Given the description of an element on the screen output the (x, y) to click on. 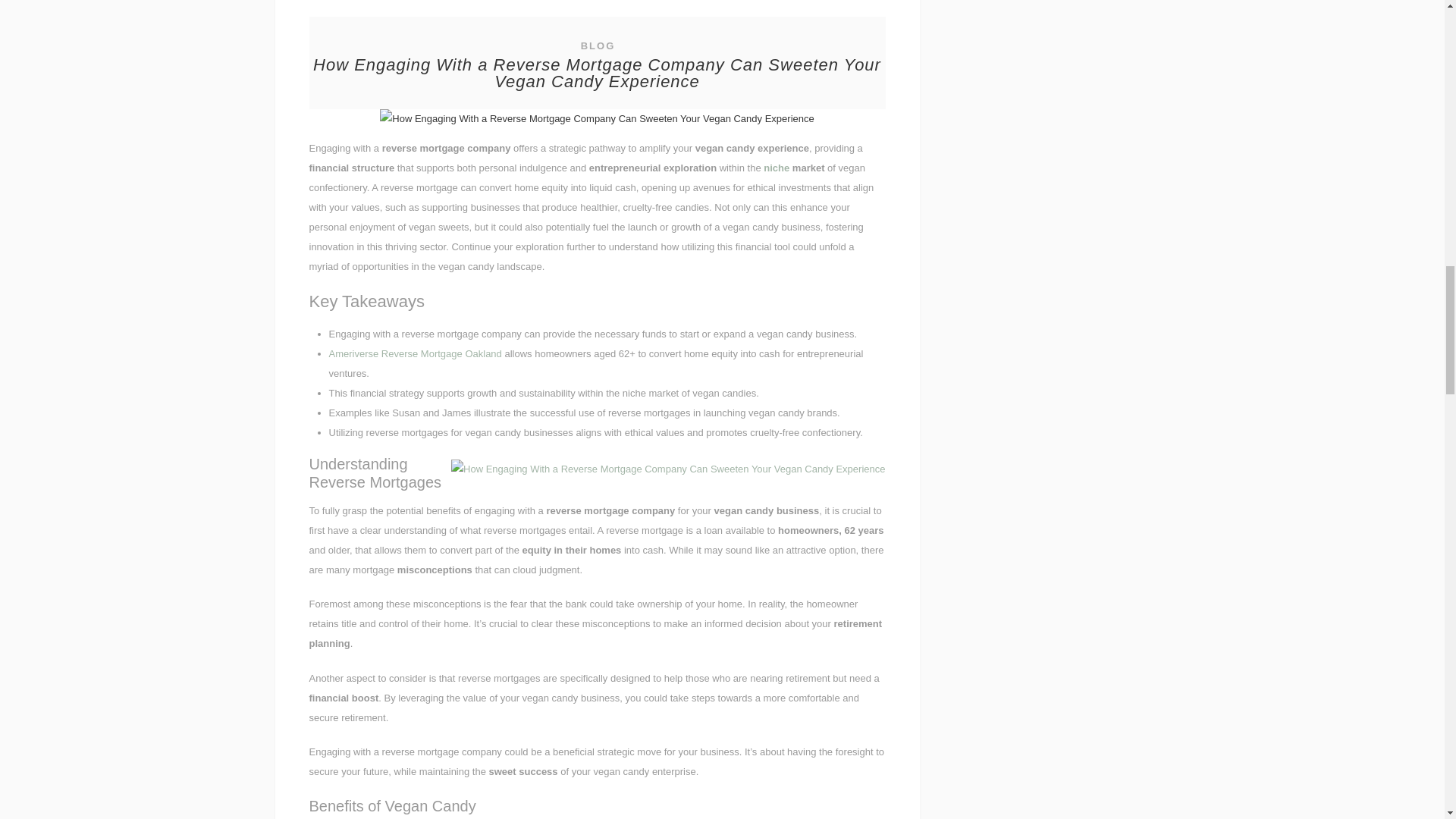
niche (775, 167)
Ameriverse Reverse Mortgage Oakland (415, 353)
BLOG (597, 45)
